Given the description of an element on the screen output the (x, y) to click on. 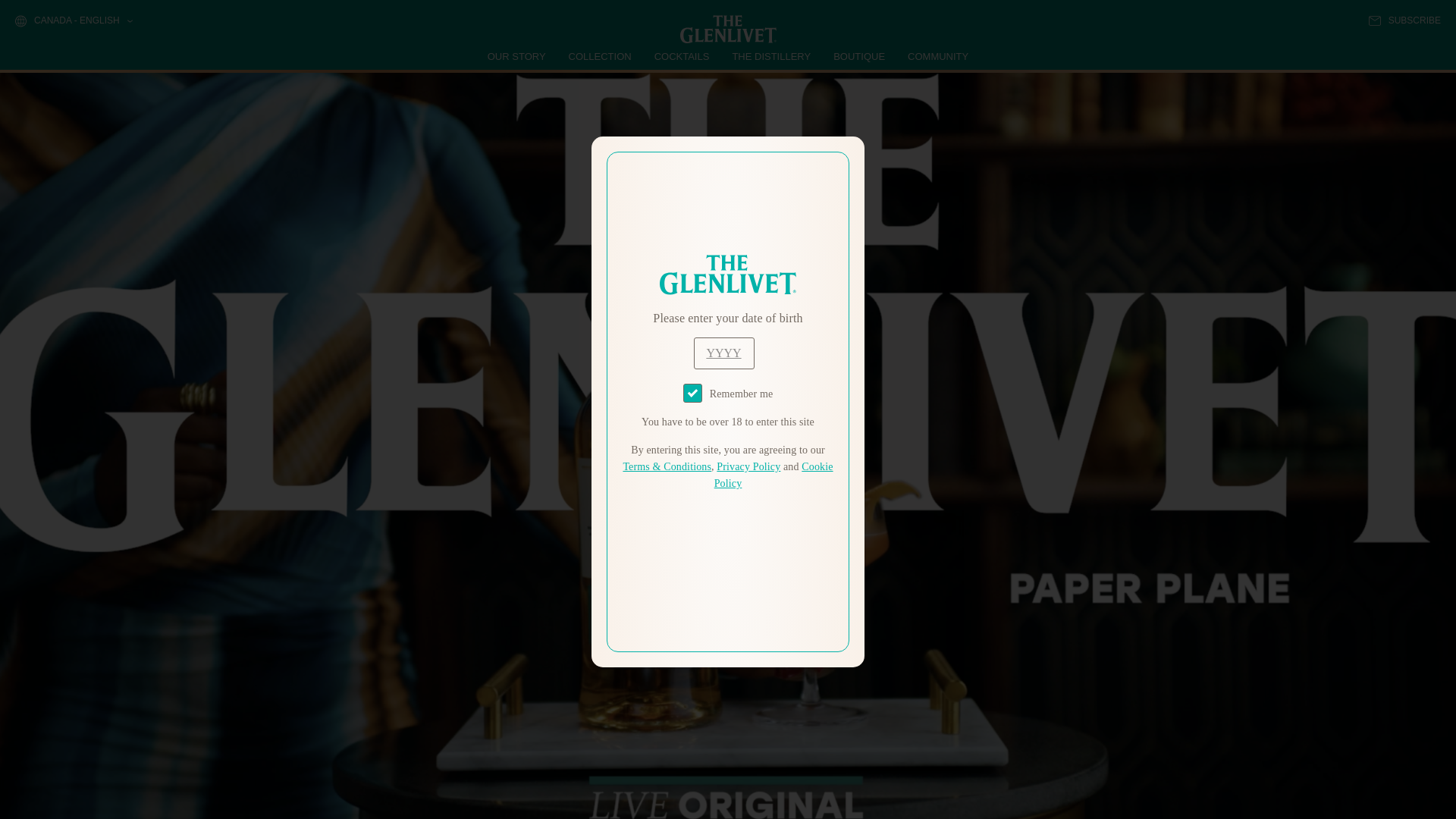
year (723, 353)
CANADA - ENGLISH (73, 21)
SUBSCRIBE (1404, 20)
THE DISTILLERY (771, 56)
OUR STORY (516, 56)
Cookie Policy (773, 474)
COCKTAILS (681, 56)
BOUTIQUE (858, 56)
Privacy Policy (748, 466)
COLLECTION (600, 56)
COMMUNITY (937, 56)
